Given the description of an element on the screen output the (x, y) to click on. 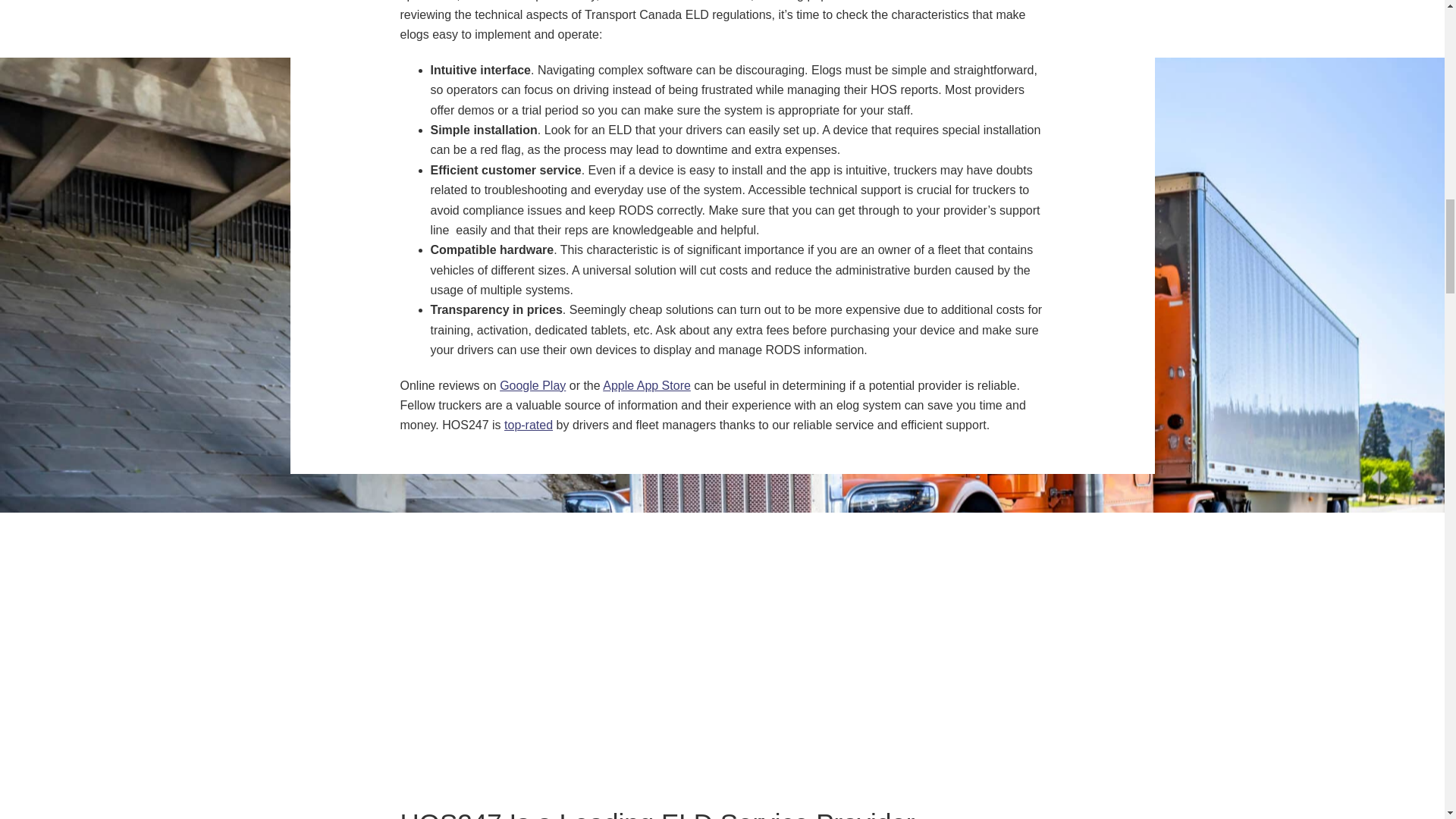
Apple App Store (646, 385)
top-rated (528, 424)
Google Play (532, 385)
